Given the description of an element on the screen output the (x, y) to click on. 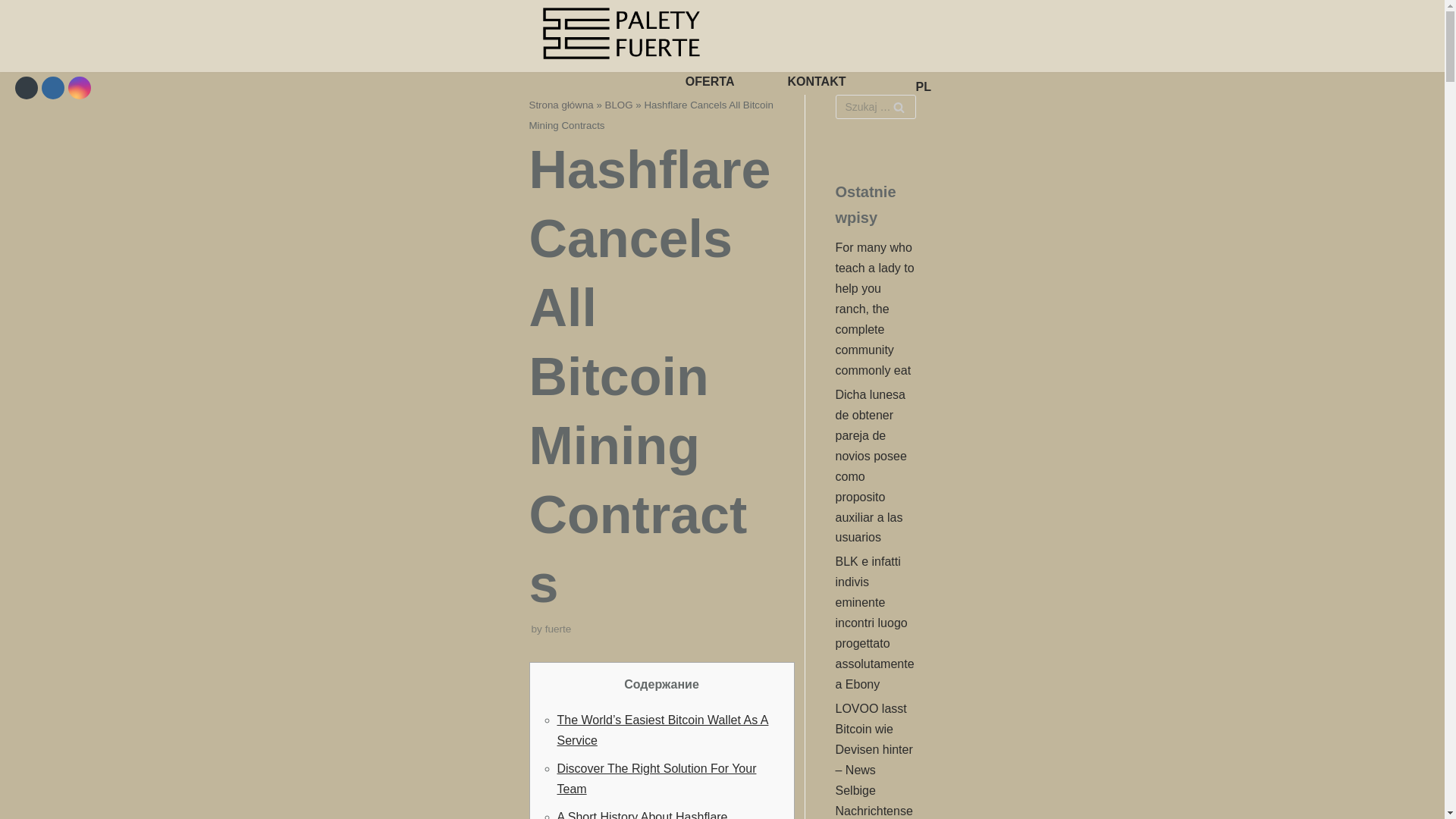
PALETY FUERTE (622, 39)
Szukaj (897, 106)
fuerte (558, 628)
Discover The Right Solution For Your Team (655, 778)
Szukaj (897, 106)
O NAS (843, 14)
HOME (753, 14)
Szukaj (897, 106)
Posts by fuerte (558, 628)
A Short History About Hashflare (641, 814)
